Given the description of an element on the screen output the (x, y) to click on. 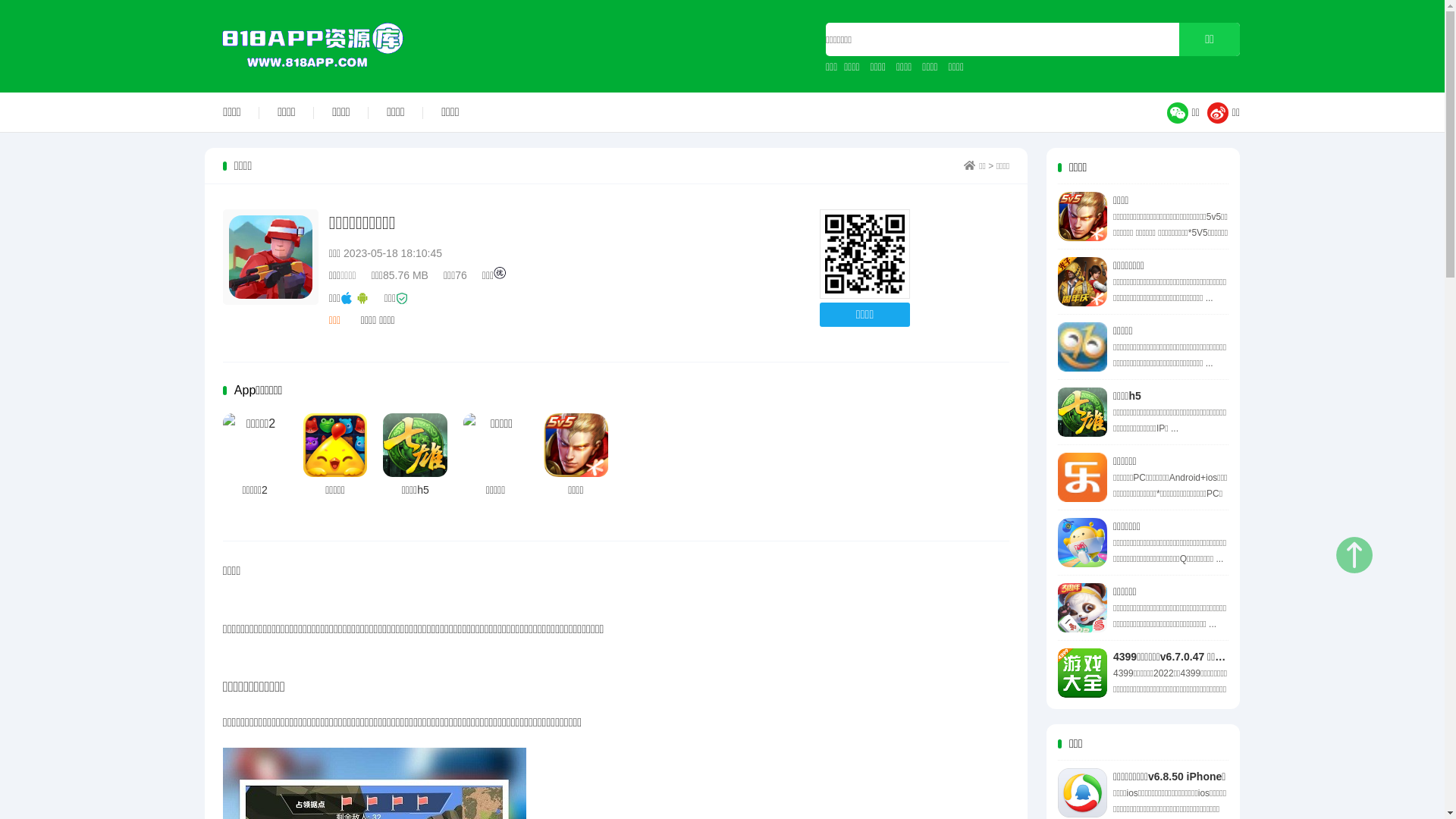
http://www.818app.com Element type: hover (864, 254)
